Given the description of an element on the screen output the (x, y) to click on. 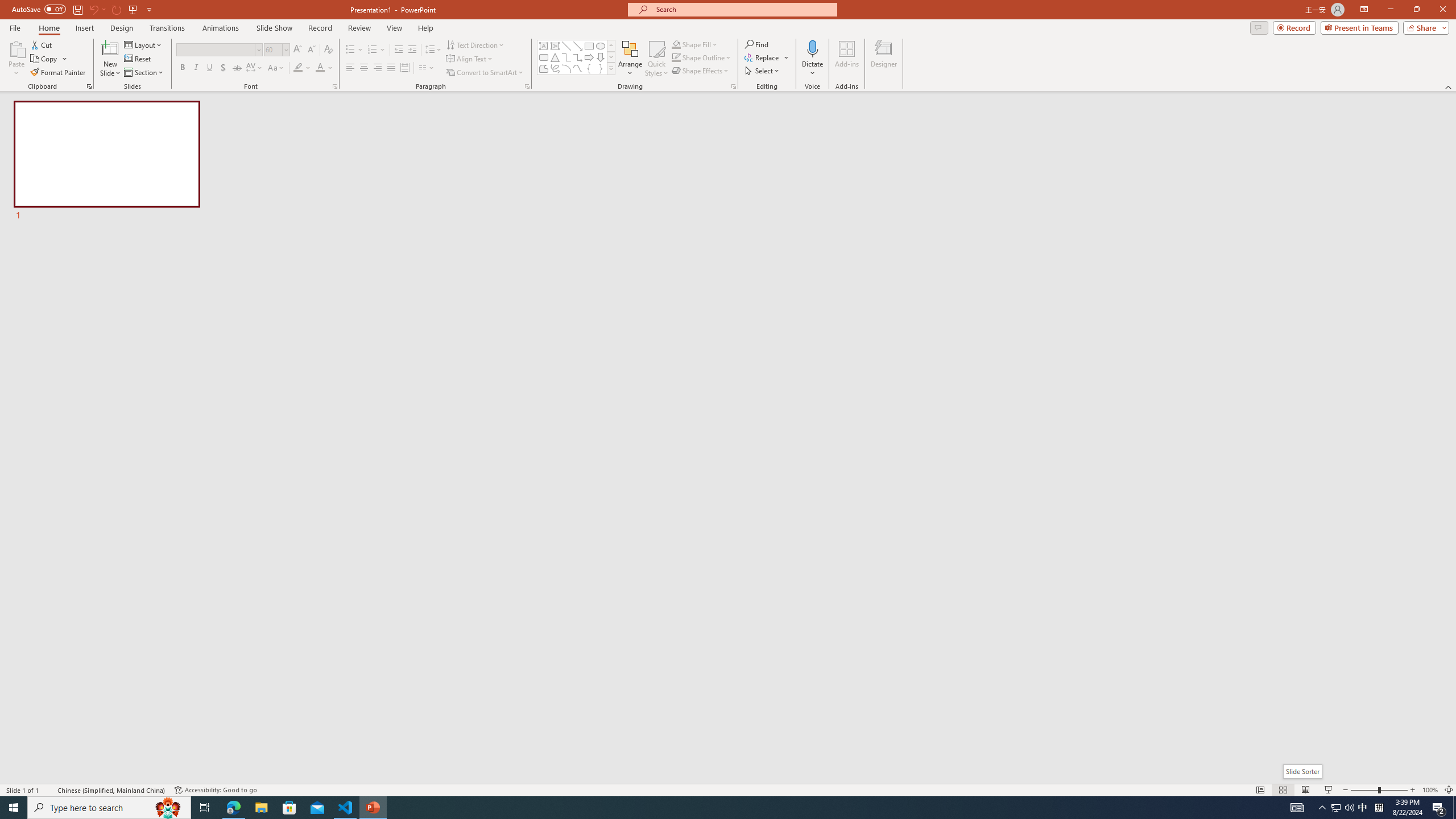
Connector: Elbow Arrow (577, 57)
Font Color (324, 67)
Shape Fill Orange, Accent 2 (675, 44)
Row Down (611, 56)
Quick Access Toolbar (82, 9)
Zoom to Fit  (1449, 790)
Share (1423, 27)
Oval (600, 45)
Bullets (354, 49)
Align Right (377, 67)
Isosceles Triangle (554, 57)
Minimize (1390, 9)
Collapse the Ribbon (1448, 86)
